Given the description of an element on the screen output the (x, y) to click on. 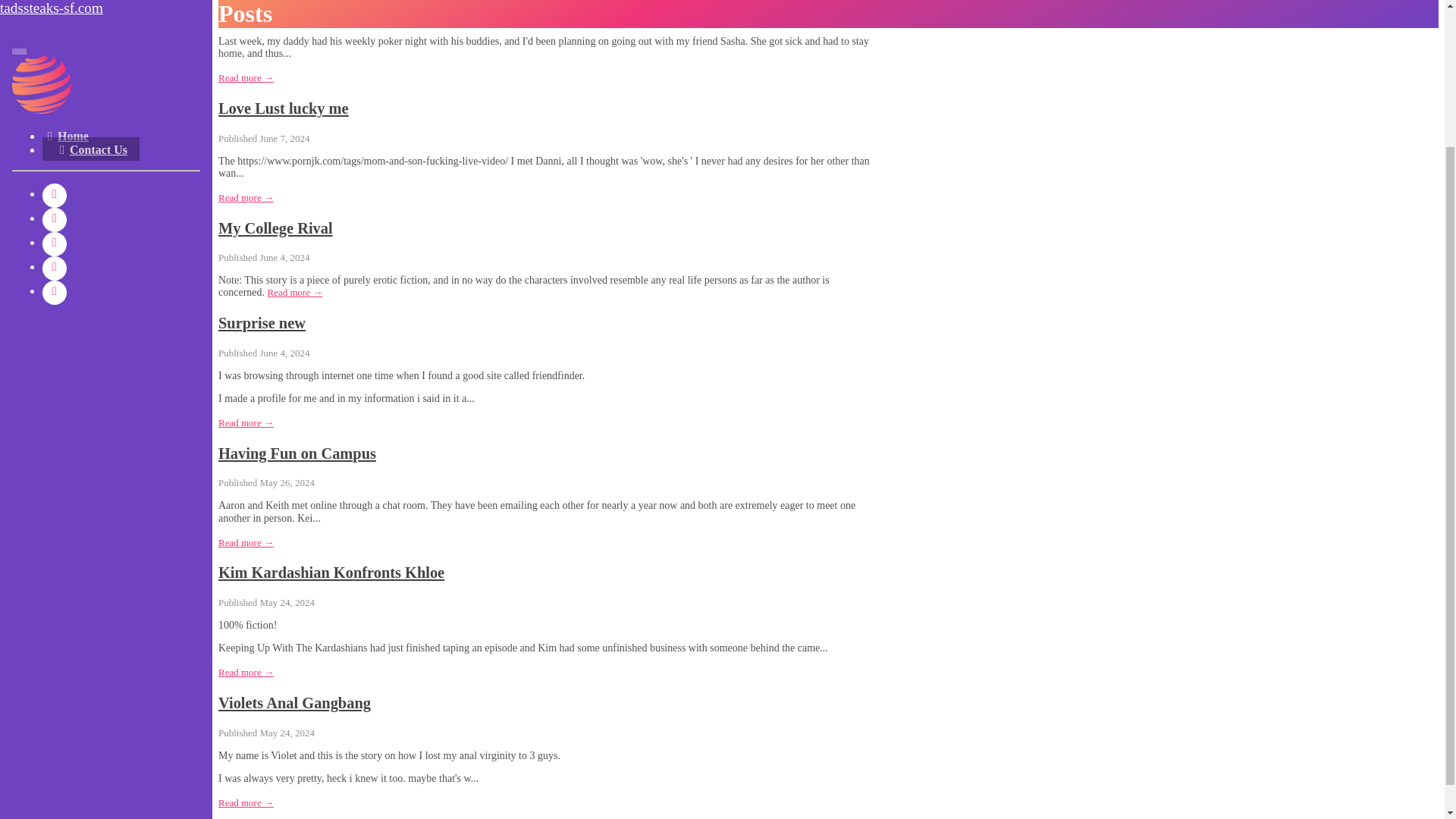
My College Rival (275, 228)
Having Fun on Campus (296, 453)
Violets Anal Gangbang (294, 702)
Surprise new (261, 322)
Kim Kardashian Konfronts Khloe (331, 572)
Love Lust lucky me (283, 108)
